Given the description of an element on the screen output the (x, y) to click on. 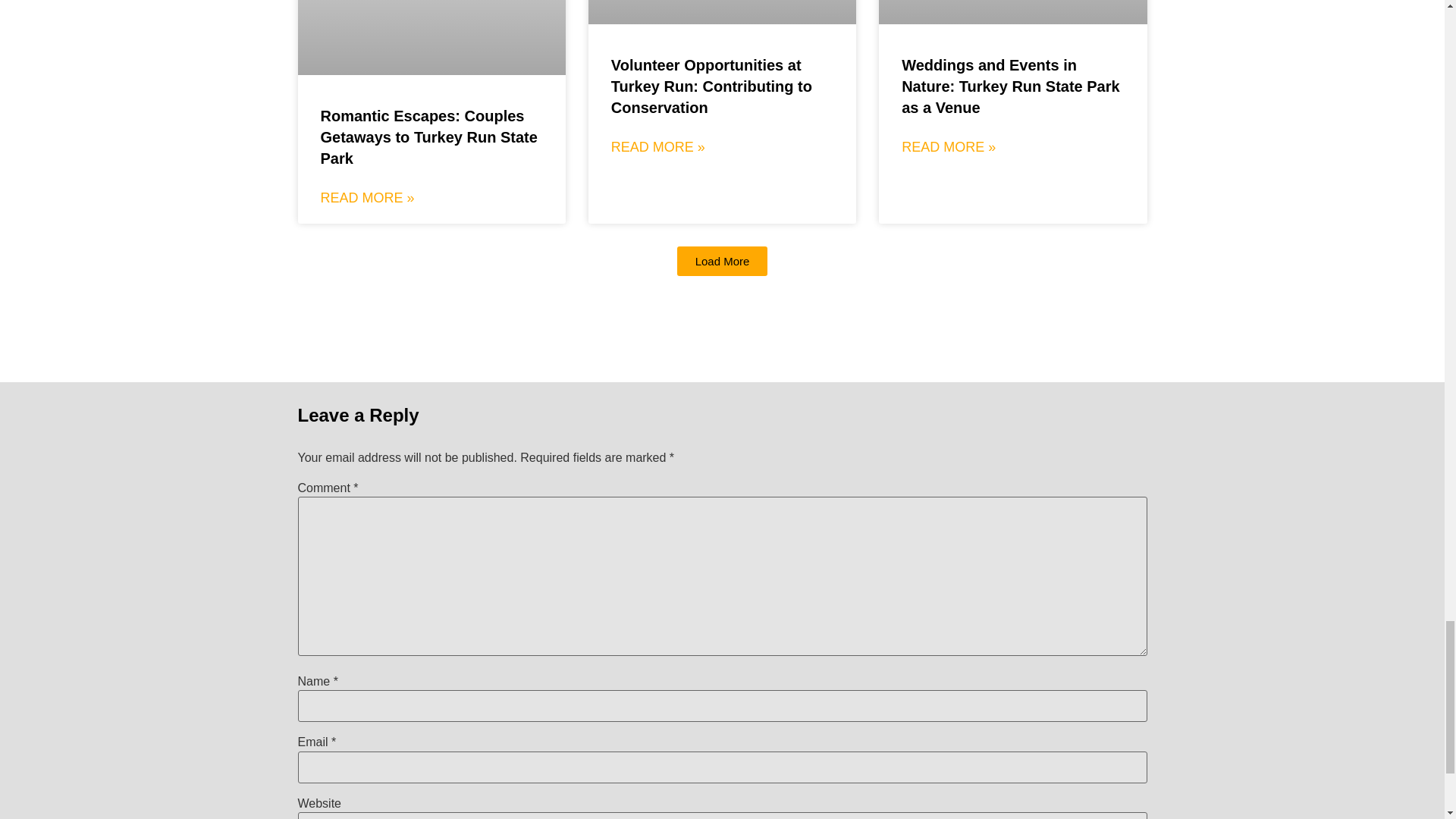
Romantic Escapes: Couples Getaways to Turkey Run State Park (428, 137)
Load More (722, 261)
